Given the description of an element on the screen output the (x, y) to click on. 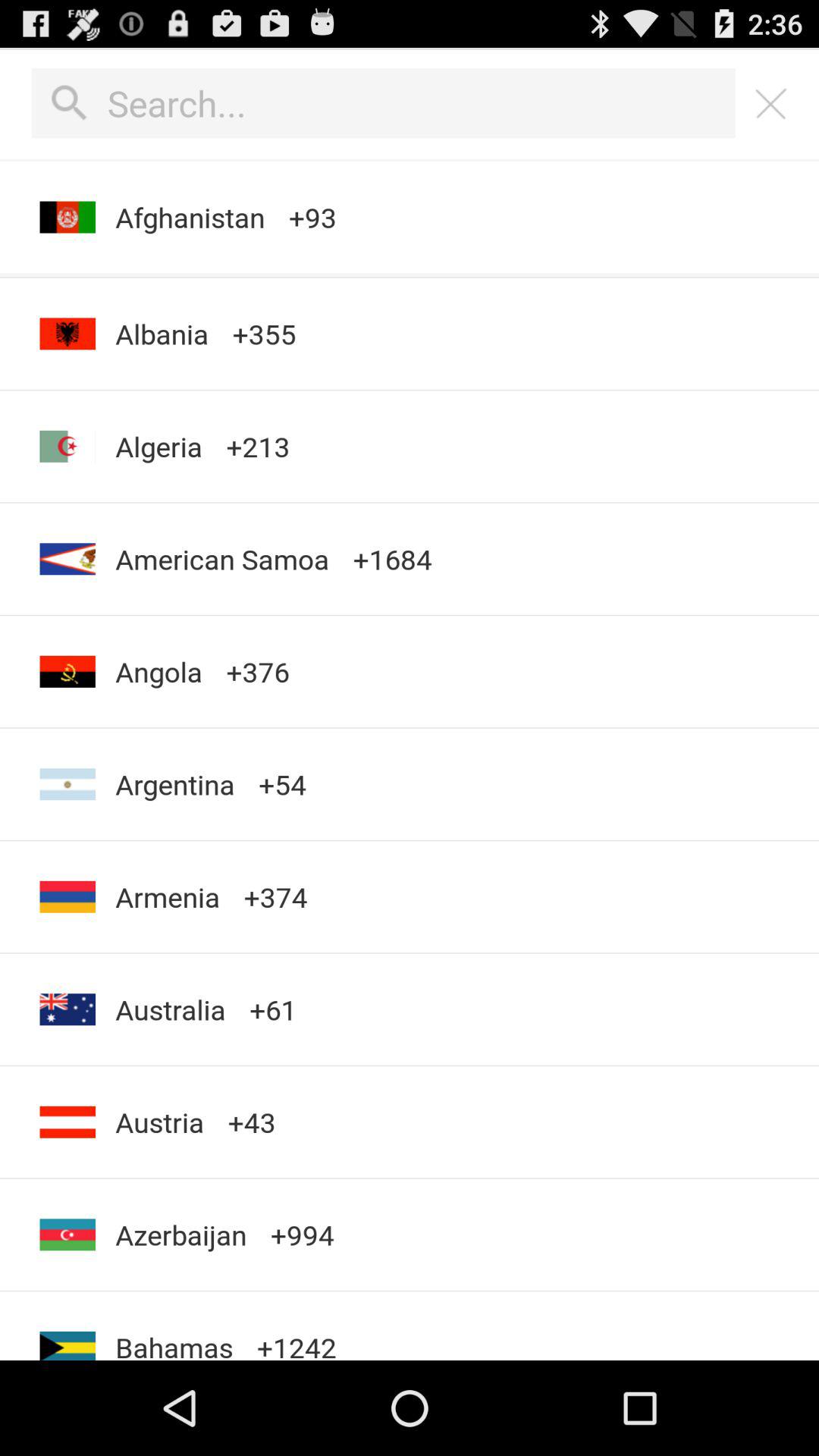
launch the app above the +1242 app (302, 1234)
